Given the description of an element on the screen output the (x, y) to click on. 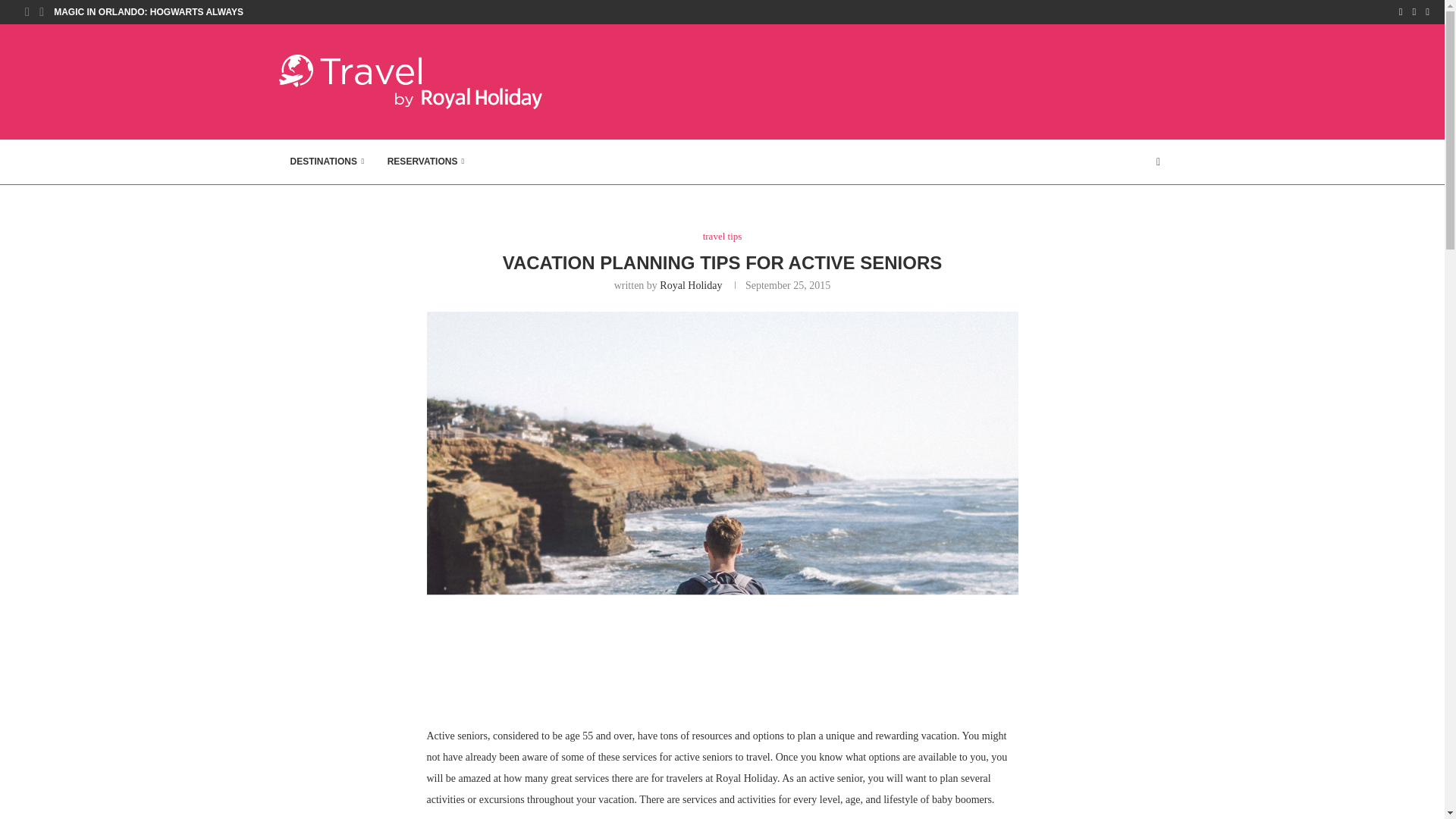
Royal Holiday (690, 285)
MAGIC IN ORLANDO: HOGWARTS ALWAYS (148, 12)
DESTINATIONS (327, 162)
travel tips (722, 236)
RESERVATIONS (425, 162)
